Given the description of an element on the screen output the (x, y) to click on. 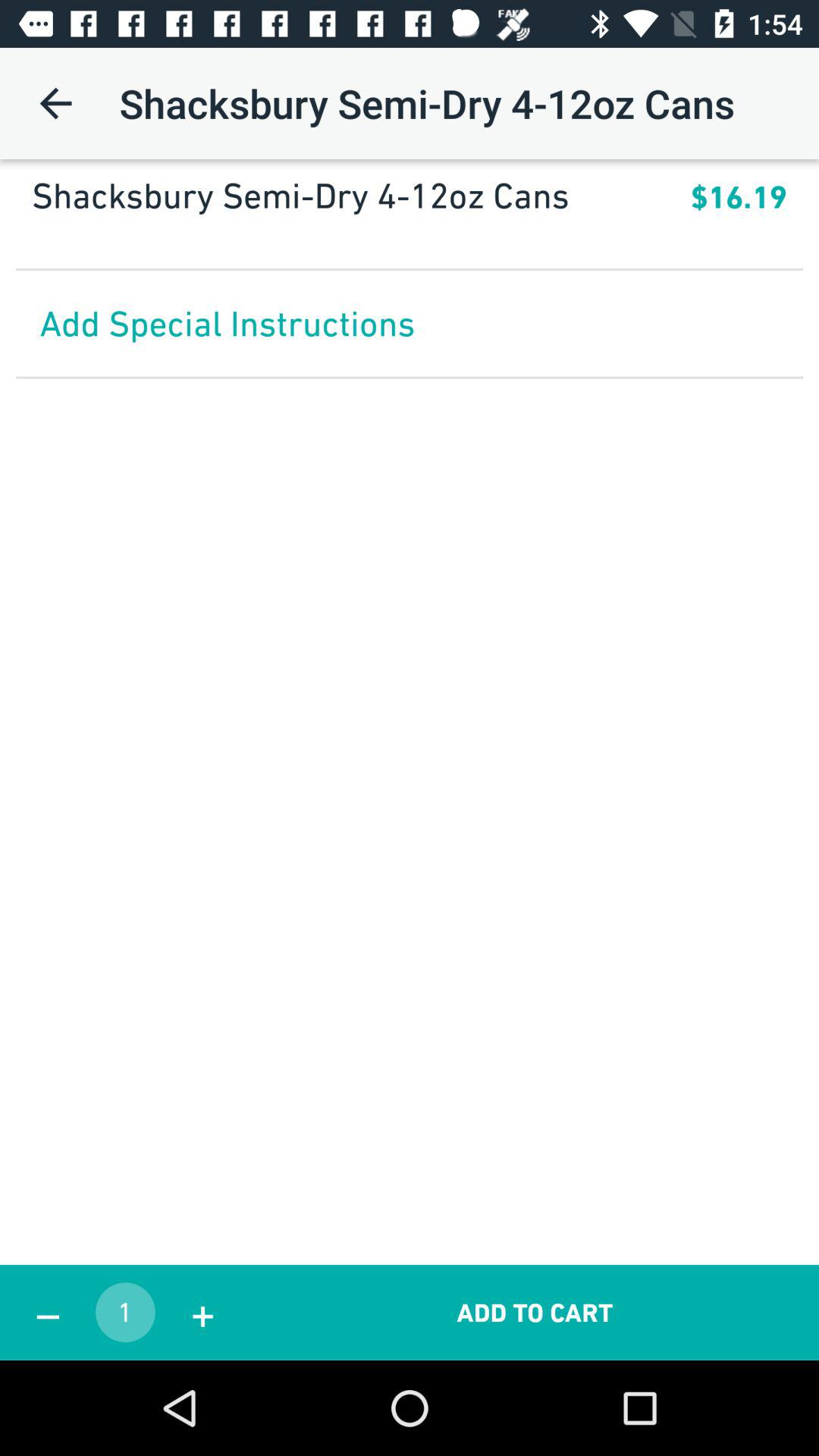
choose the app to the left of the shacksbury semi dry (55, 103)
